Given the description of an element on the screen output the (x, y) to click on. 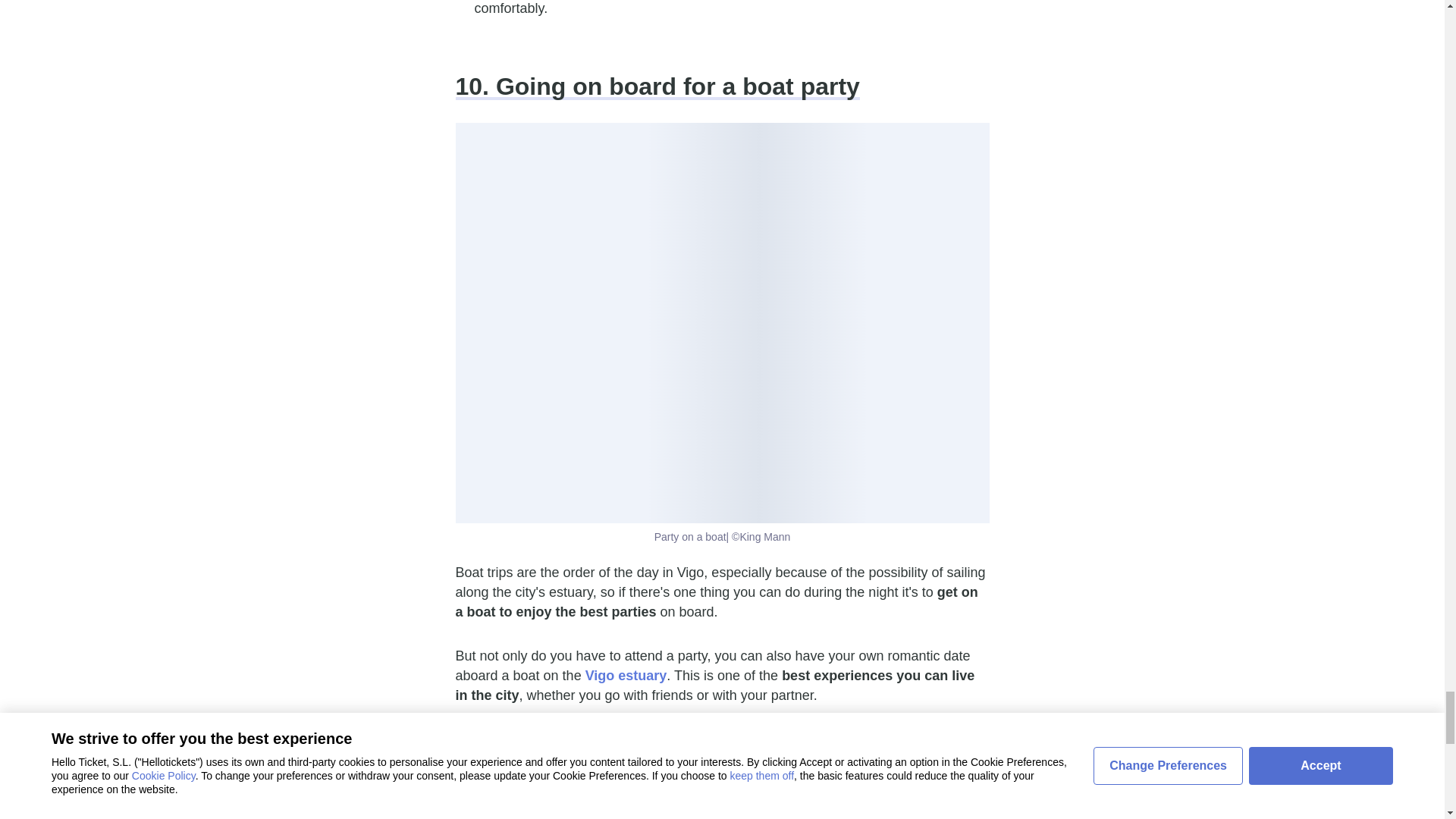
Vigo estuary (625, 675)
